Given the description of an element on the screen output the (x, y) to click on. 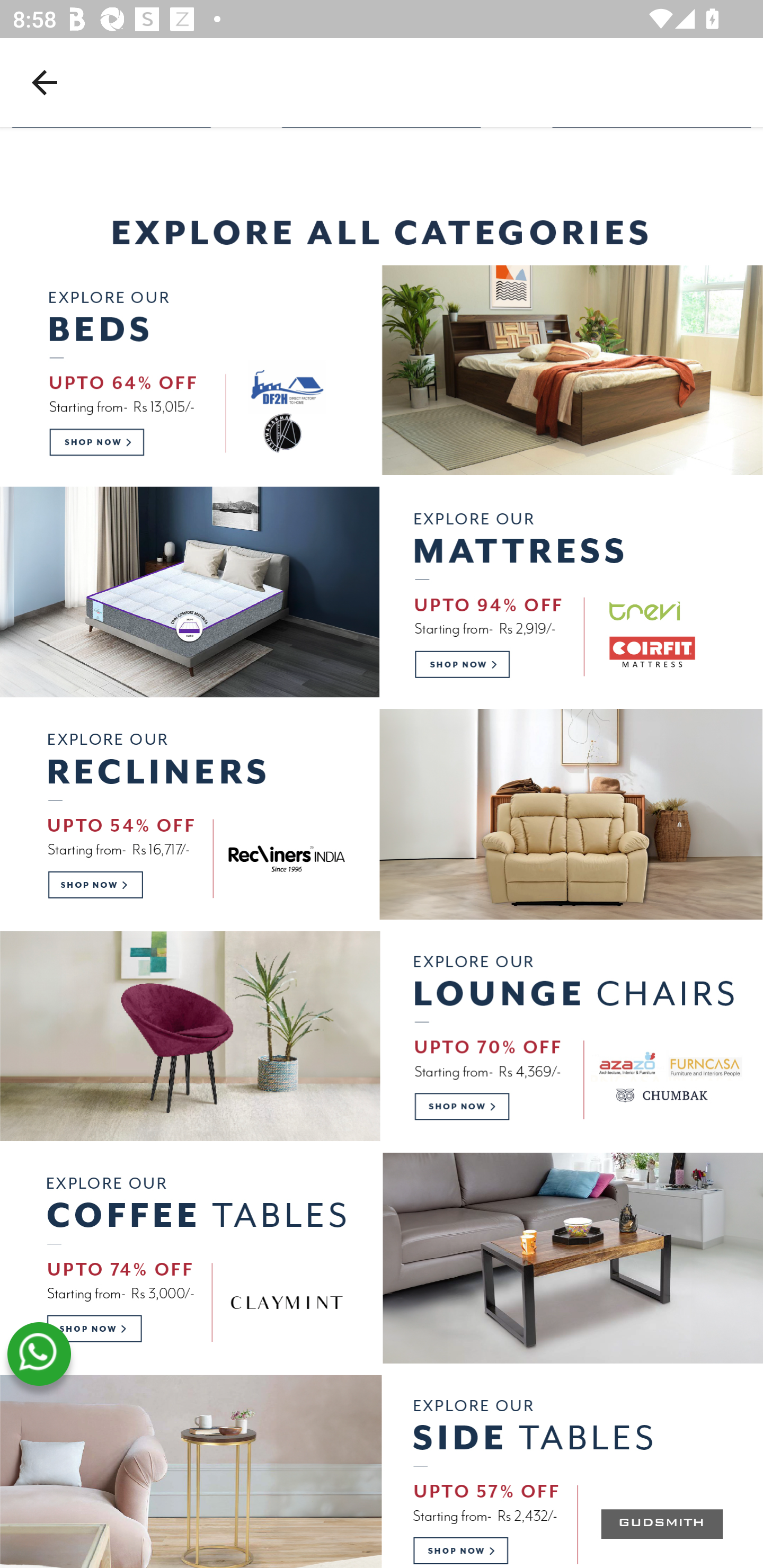
Navigate up (44, 82)
VMI_Explore_brands_Beds (381, 369)
VMI_Explore_brands_mattress (381, 592)
VMI_Explore_brands_Recliners (381, 814)
VMI_Explore_brands_Lounge Chairs (381, 1036)
VMI_Explore_brands_Coffee Tables (381, 1258)
whatsapp (38, 1354)
VMI_Explore_brands_Side Tables (381, 1471)
